Given the description of an element on the screen output the (x, y) to click on. 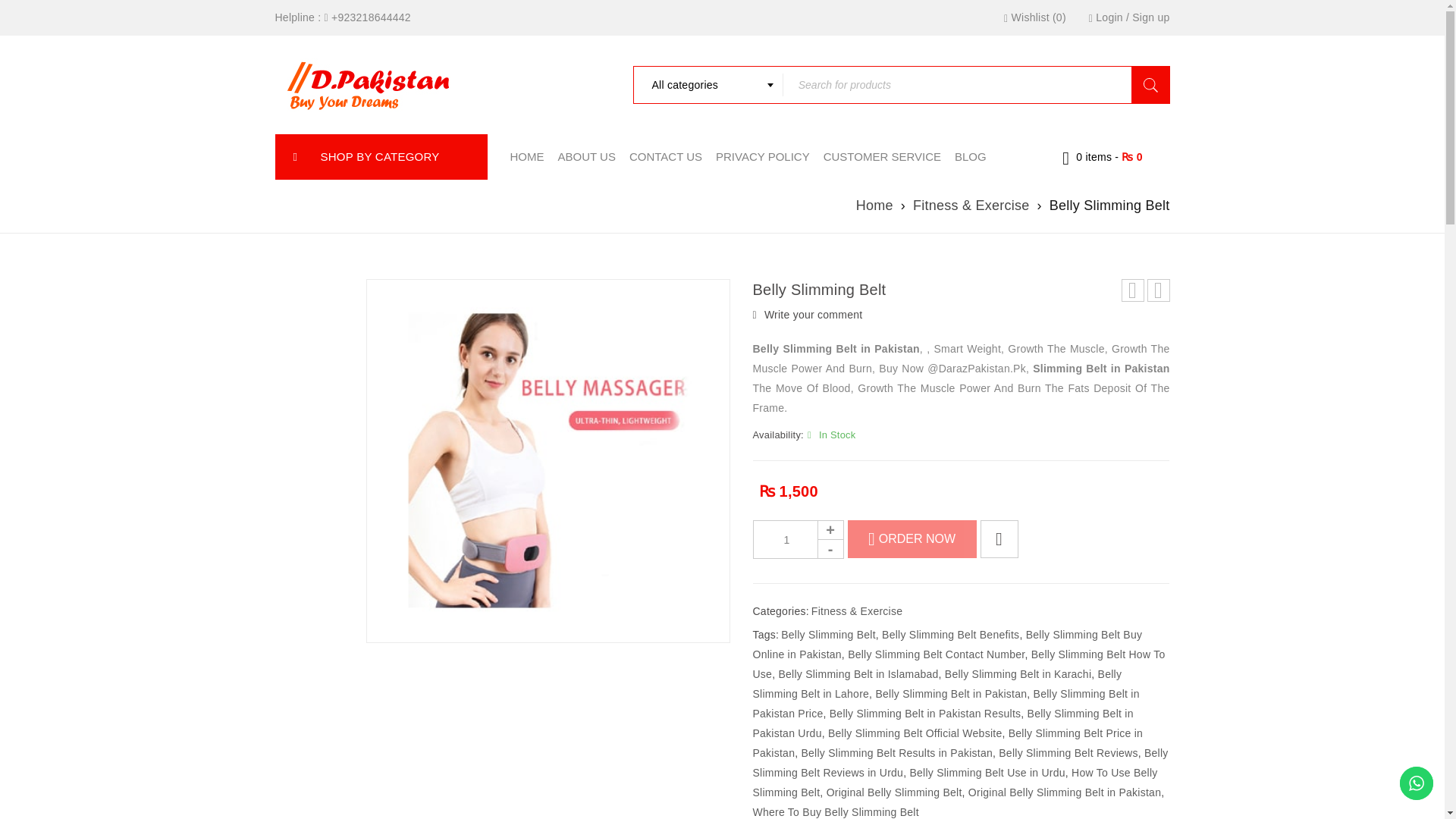
View your shopping bag (1102, 156)
Search (1150, 85)
Login (1109, 17)
PRIVACY POLICY (762, 156)
Login (1109, 17)
Create New Account (1150, 17)
- (830, 548)
Search (1150, 85)
All categories (707, 85)
Wishlist (1034, 17)
Search (1150, 85)
Sign up (1150, 17)
CONTACT US (664, 156)
DarazPakistan.Pk (369, 84)
Belly-Fat-Slimming-Massage-Belt-in-Pakistan.jpg (547, 460)
